Given the description of an element on the screen output the (x, y) to click on. 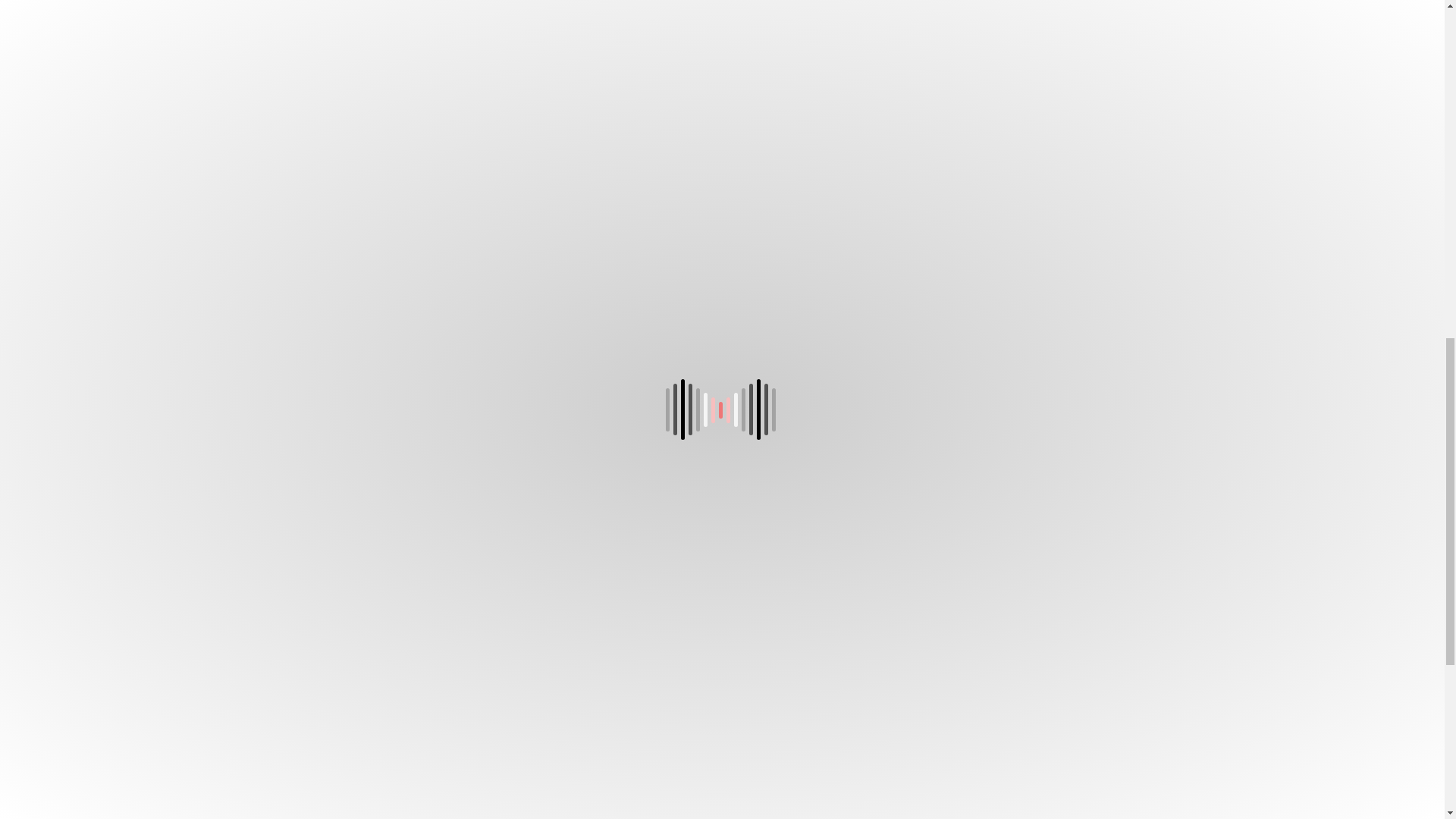
Jamboree Disco Night (433, 759)
Jamboree Urban (433, 735)
WHAT'S ON (433, 639)
How to arrive (722, 688)
Gift Card (722, 735)
Galleries (722, 759)
Clarence Bekker Band (433, 665)
MasiMas Festival (433, 782)
OUR VENUE (722, 639)
